Given the description of an element on the screen output the (x, y) to click on. 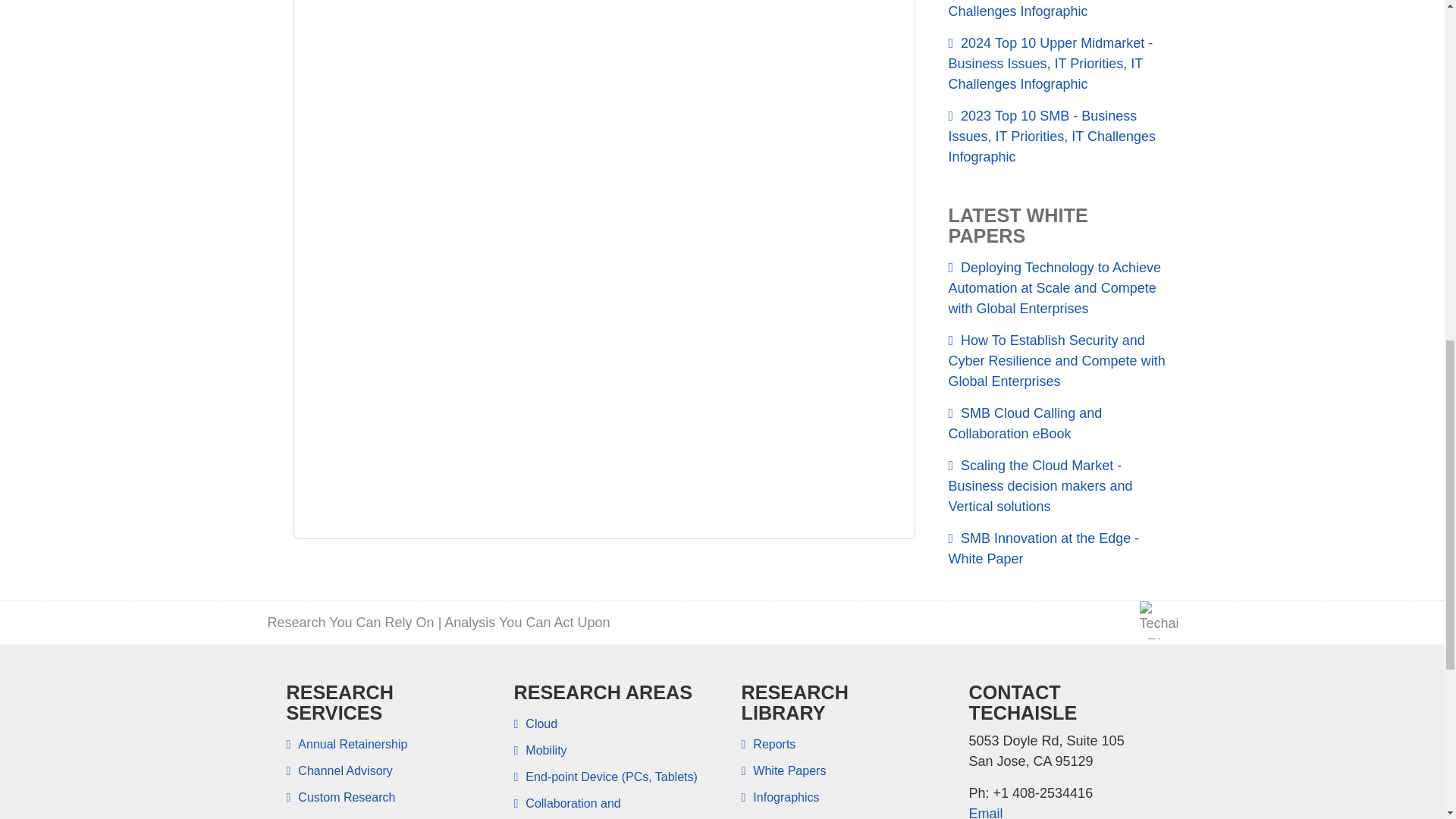
ta-avatar-50 image (1157, 620)
